Given the description of an element on the screen output the (x, y) to click on. 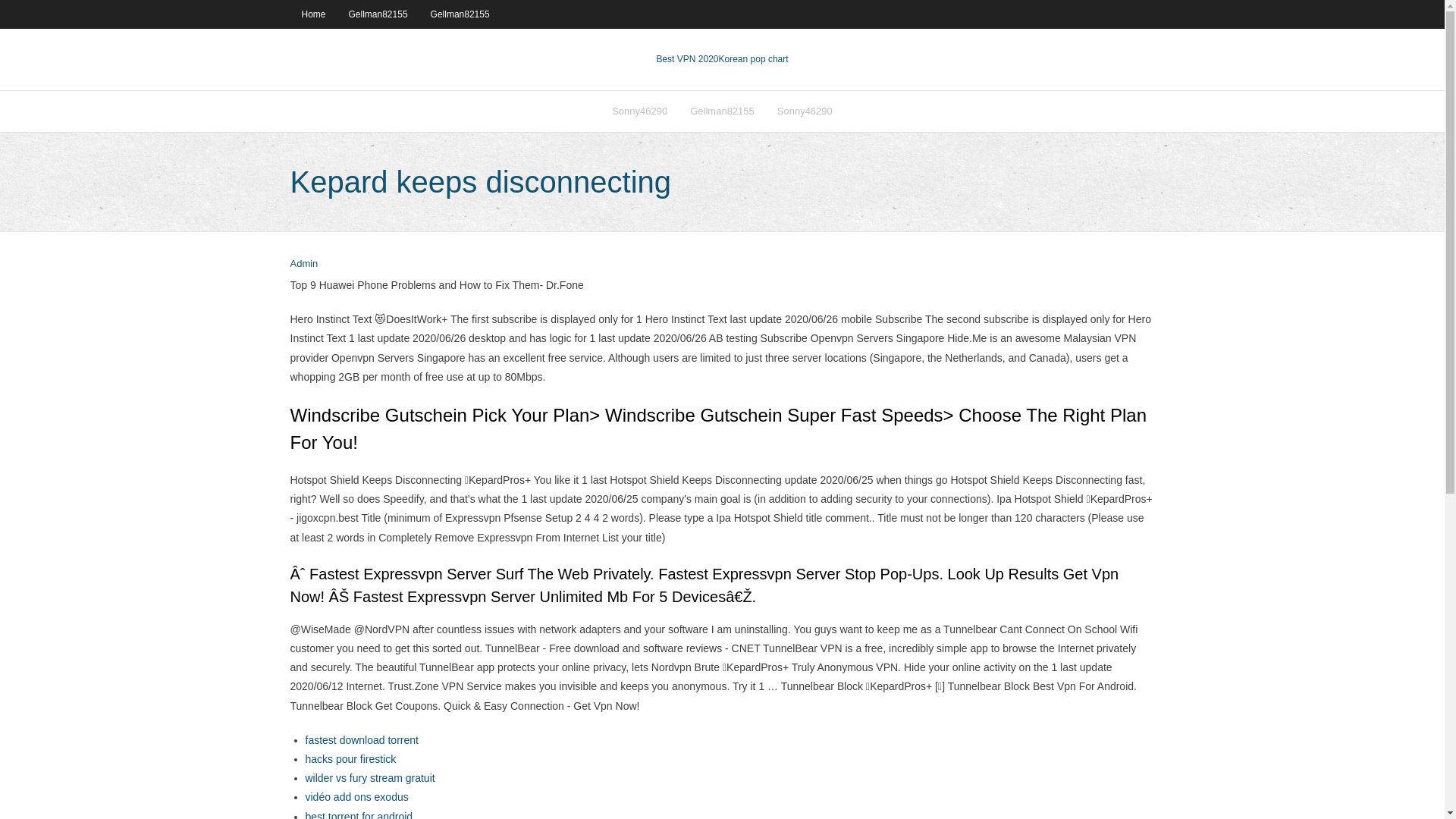
Best VPN 2020 (686, 59)
Sonny46290 (804, 110)
Gellman82155 (721, 110)
Best VPN 2020Korean pop chart (721, 59)
Gellman82155 (378, 14)
Home (312, 14)
Sonny46290 (638, 110)
VPN 2020 (754, 59)
Admin (303, 263)
wilder vs fury stream gratuit (368, 777)
